Given the description of an element on the screen output the (x, y) to click on. 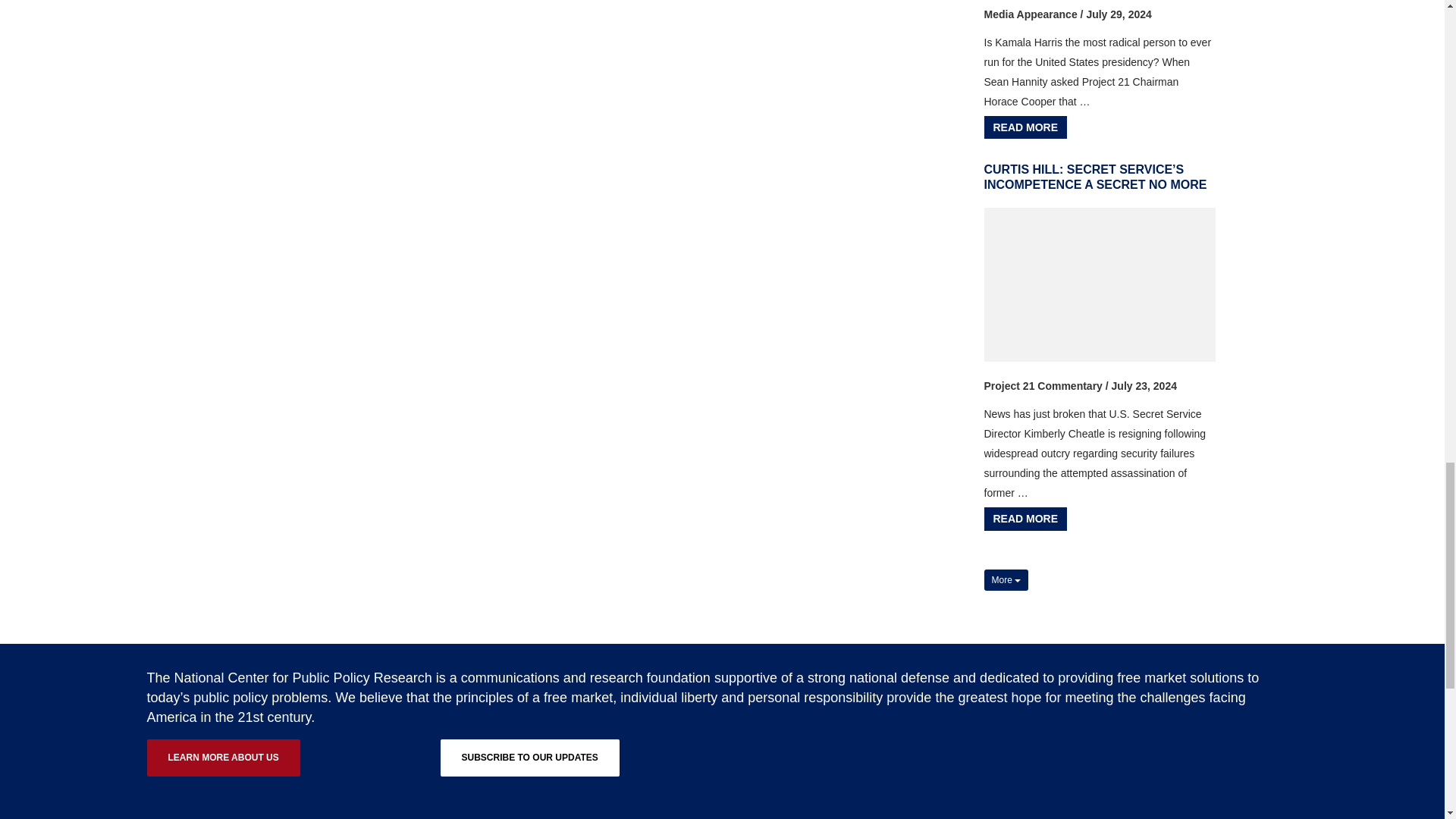
Media Appearance (1030, 14)
Project 21 Commentary (1043, 386)
